Given the description of an element on the screen output the (x, y) to click on. 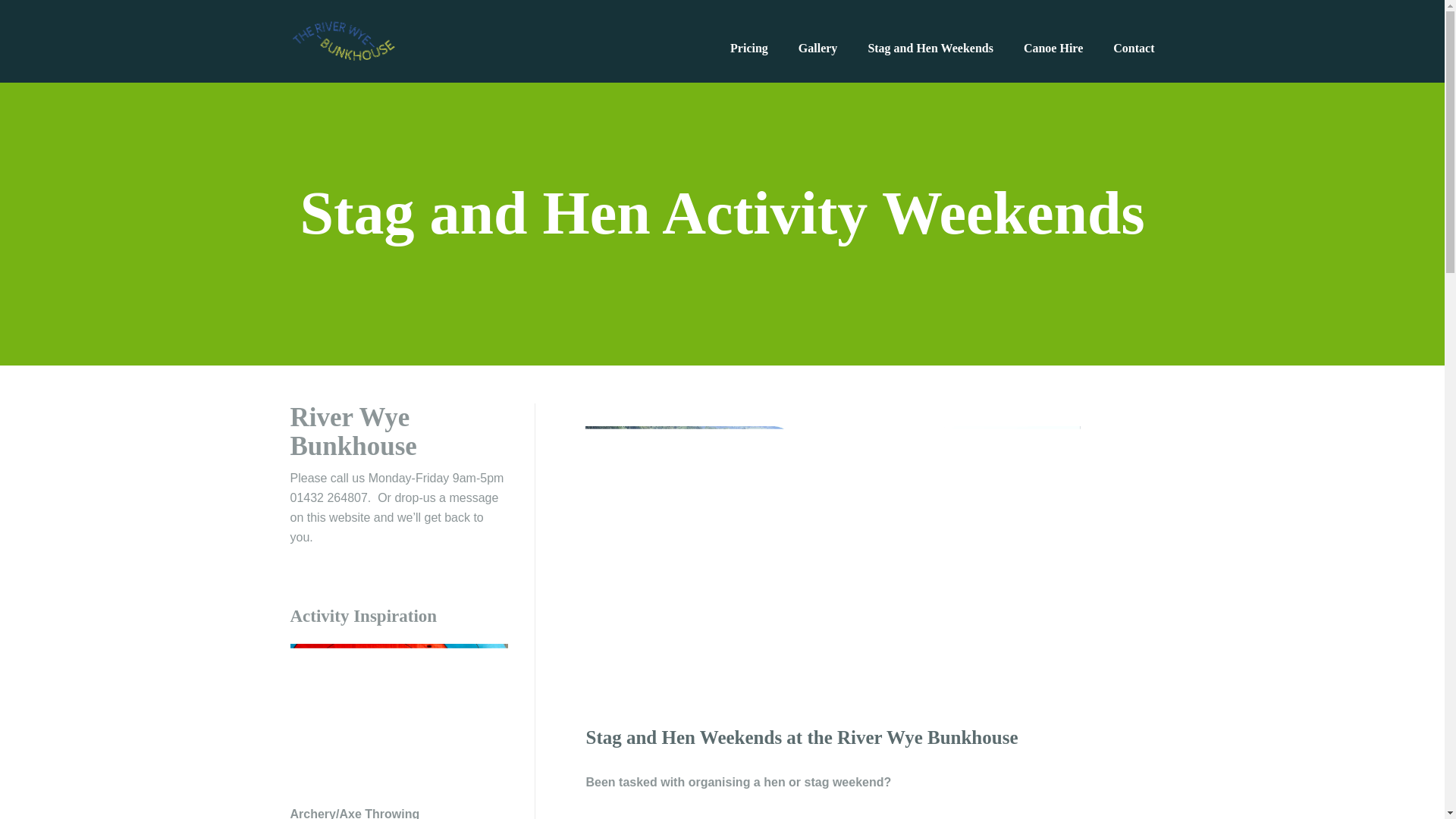
Gallery (817, 47)
Stag and Hen Weekends (929, 47)
Canoe Hire (1053, 47)
Pricing (749, 47)
Contact (1133, 47)
River Wye Bunkhouse (342, 40)
